Given the description of an element on the screen output the (x, y) to click on. 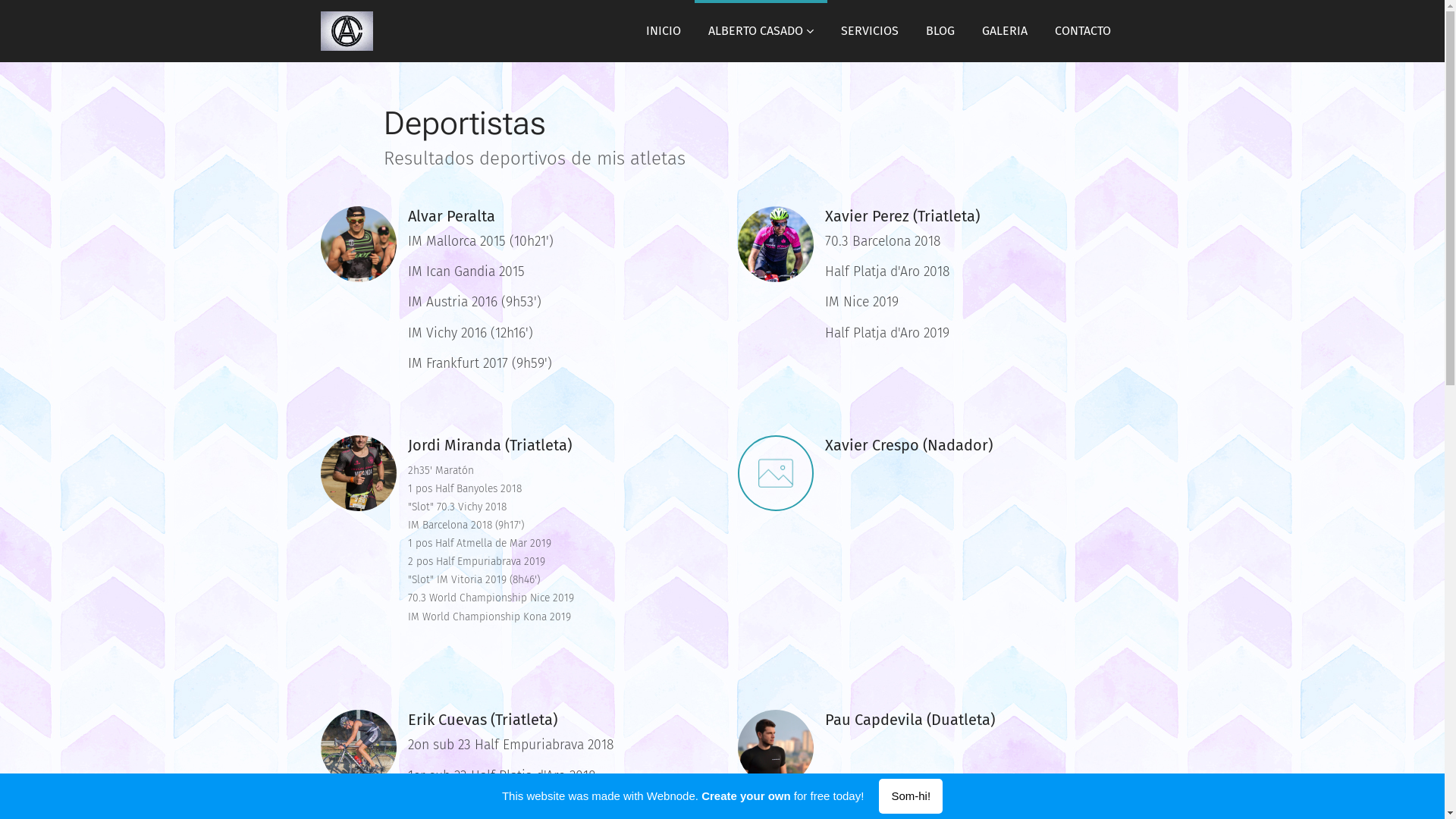
ALBERTO CASADO Element type: text (760, 31)
GALERIA Element type: text (1003, 31)
CONTACTO Element type: text (1081, 31)
BLOG Element type: text (939, 31)
INICIO Element type: text (663, 31)
SERVICIOS Element type: text (868, 31)
